Given the description of an element on the screen output the (x, y) to click on. 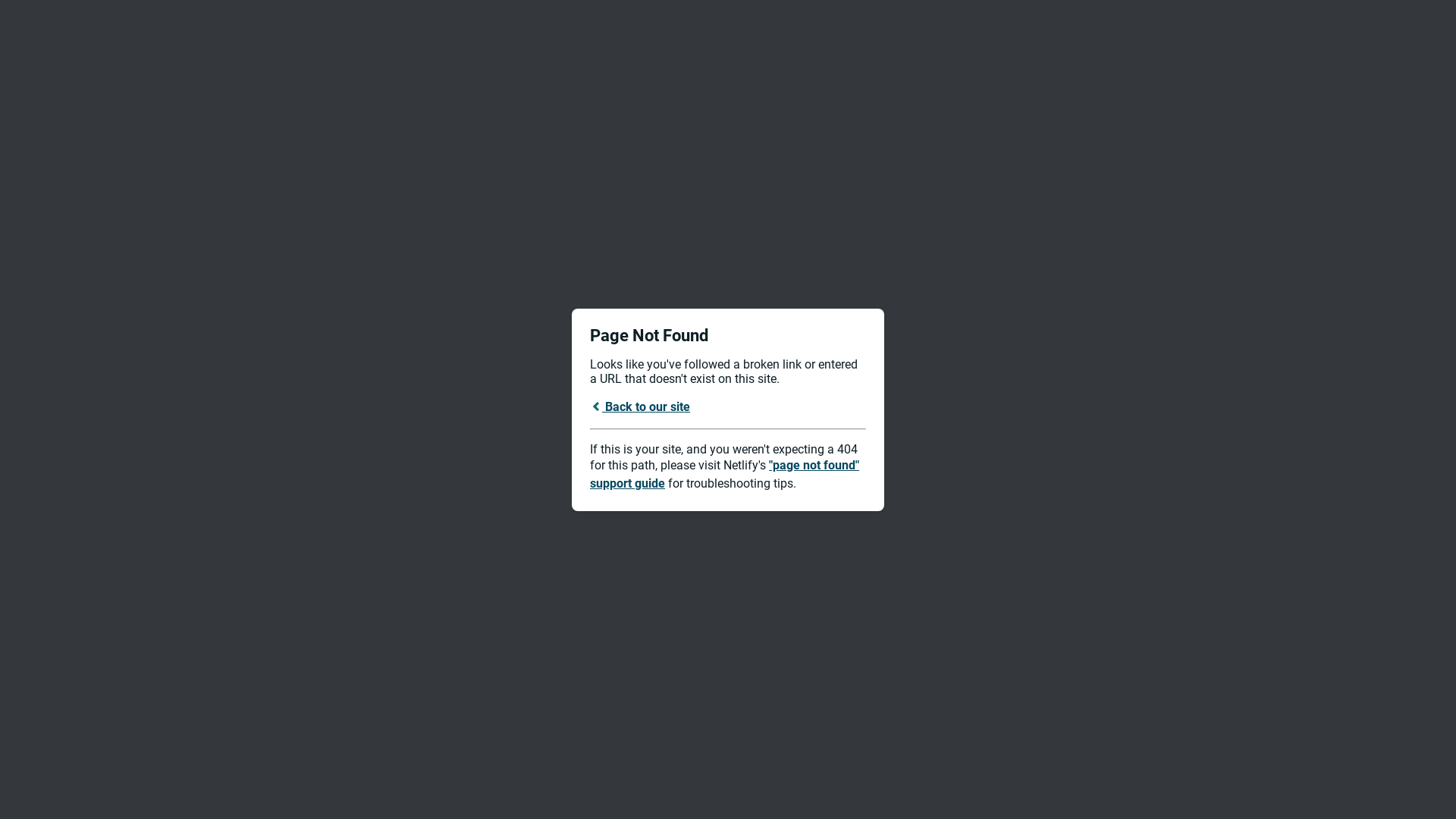
"page not found" support guide Element type: text (724, 474)
Back to our site Element type: text (639, 405)
